Given the description of an element on the screen output the (x, y) to click on. 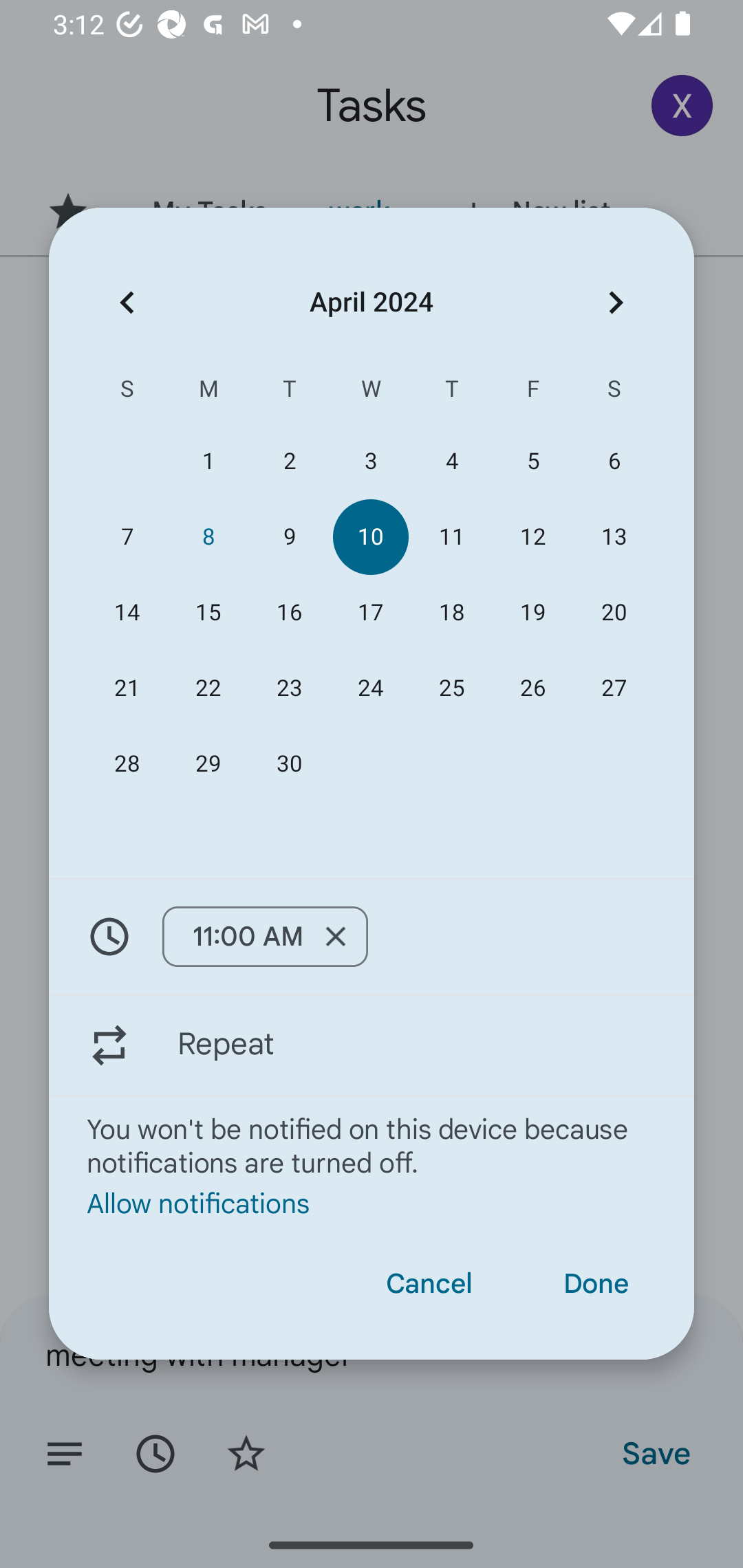
Previous month (126, 302)
Next month (615, 302)
1 01 April 2024 (207, 460)
2 02 April 2024 (288, 460)
3 03 April 2024 (370, 460)
4 04 April 2024 (451, 460)
5 05 April 2024 (532, 460)
6 06 April 2024 (613, 460)
7 07 April 2024 (126, 536)
8 08 April 2024 (207, 536)
9 09 April 2024 (288, 536)
10 10 April 2024 (370, 536)
11 11 April 2024 (451, 536)
12 12 April 2024 (532, 536)
13 13 April 2024 (613, 536)
14 14 April 2024 (126, 612)
15 15 April 2024 (207, 612)
16 16 April 2024 (288, 612)
17 17 April 2024 (370, 612)
18 18 April 2024 (451, 612)
19 19 April 2024 (532, 612)
20 20 April 2024 (613, 612)
21 21 April 2024 (126, 687)
22 22 April 2024 (207, 687)
23 23 April 2024 (288, 687)
24 24 April 2024 (370, 687)
25 25 April 2024 (451, 687)
26 26 April 2024 (532, 687)
27 27 April 2024 (613, 687)
28 28 April 2024 (126, 763)
29 29 April 2024 (207, 763)
30 30 April 2024 (288, 763)
11:00 AM Remove 11:00 AM (371, 936)
11:00 AM Remove 11:00 AM (264, 935)
Repeat (371, 1044)
Allow notifications (371, 1202)
Cancel (429, 1283)
Done (595, 1283)
